Given the description of an element on the screen output the (x, y) to click on. 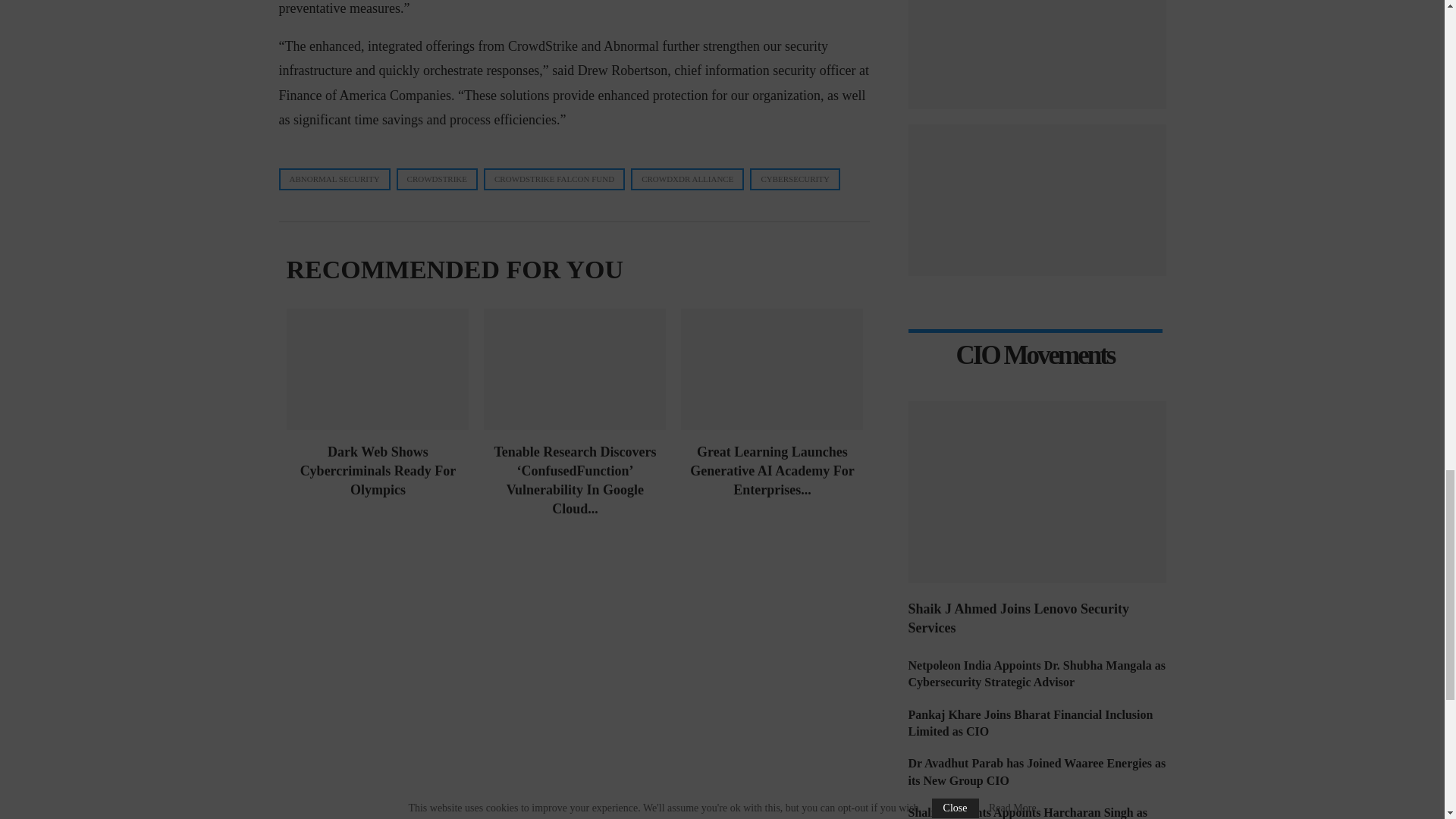
Dark Web Shows Cybercriminals Ready for Olympics (377, 368)
